Given the description of an element on the screen output the (x, y) to click on. 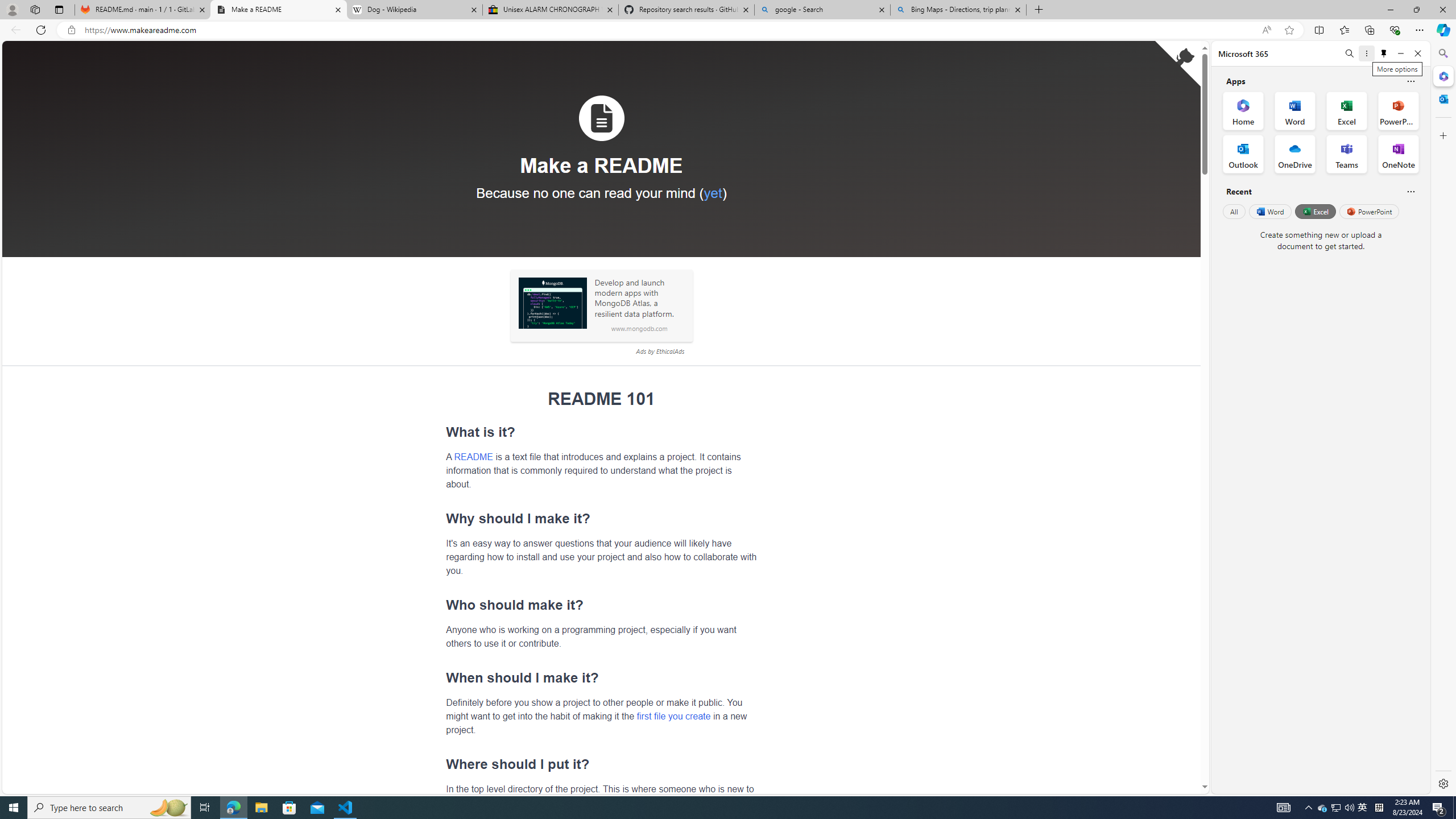
Make a README (277, 9)
PowerPoint (1369, 210)
Sponsored: MongoDB (552, 302)
PowerPoint Office App (1398, 110)
Word Office App (1295, 110)
